Given the description of an element on the screen output the (x, y) to click on. 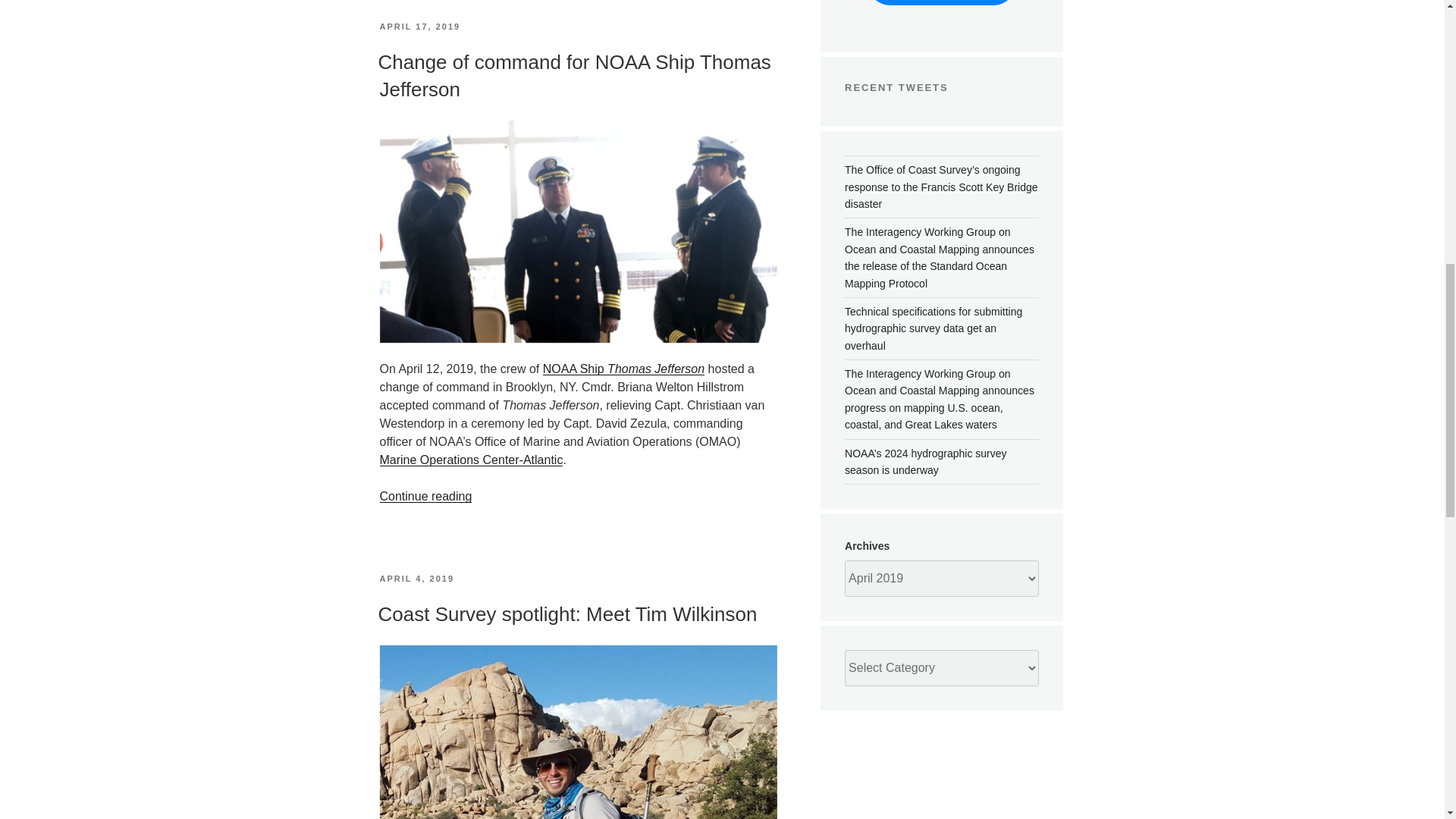
APRIL 17, 2019 (419, 26)
Change of command for NOAA Ship Thomas Jefferson (573, 75)
Marine Operations Center-Atlantic (470, 459)
Coast Survey spotlight: Meet Tim Wilkinson (567, 613)
NOAA Ship Thomas Jefferson (623, 368)
APRIL 4, 2019 (416, 578)
